Given the description of an element on the screen output the (x, y) to click on. 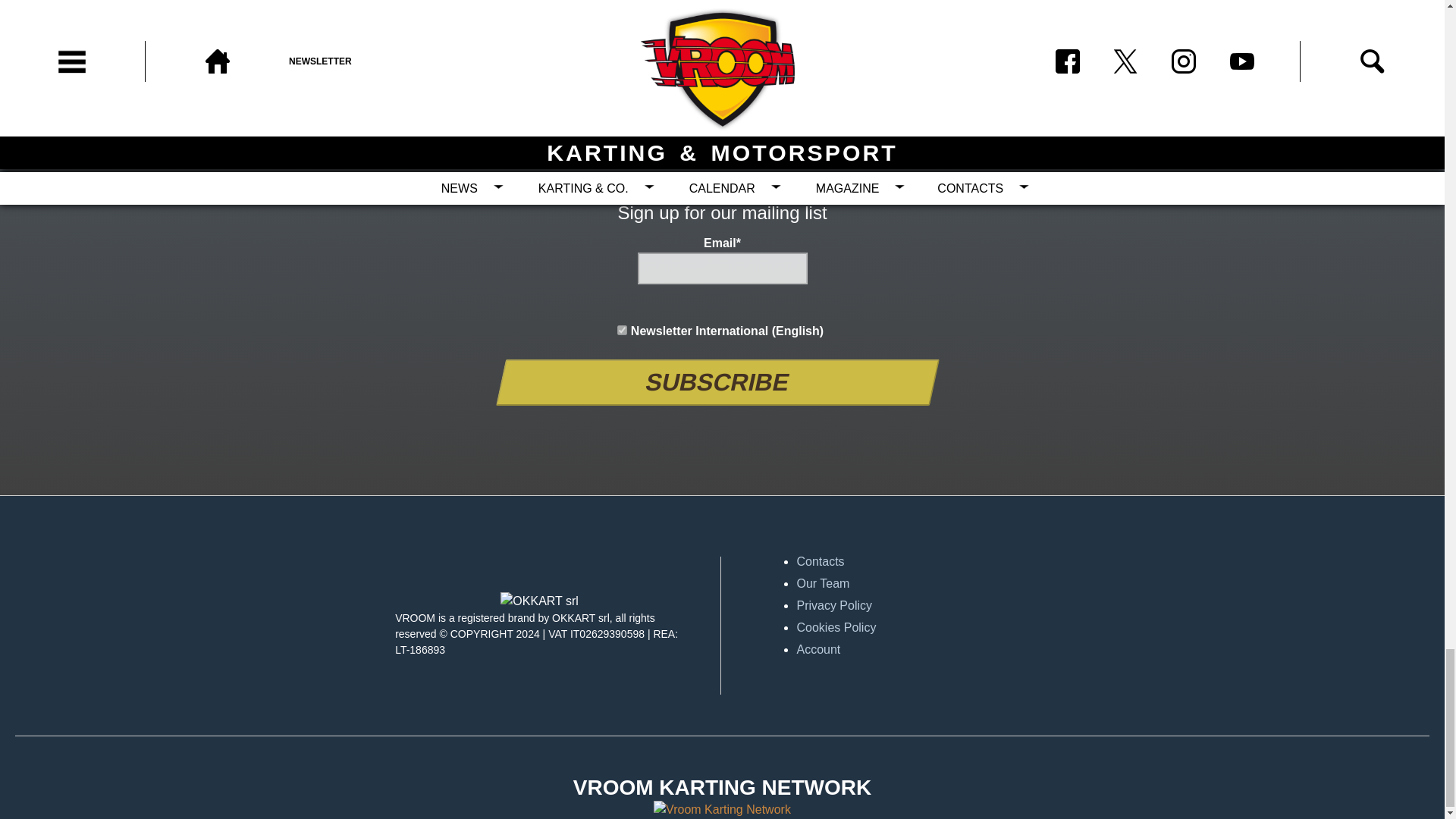
Contacts (940, 561)
Cookies Policy (940, 628)
Subscribe (713, 382)
Privacy Policy (940, 606)
2 (622, 329)
Account (940, 649)
Our Team (940, 583)
